Given the description of an element on the screen output the (x, y) to click on. 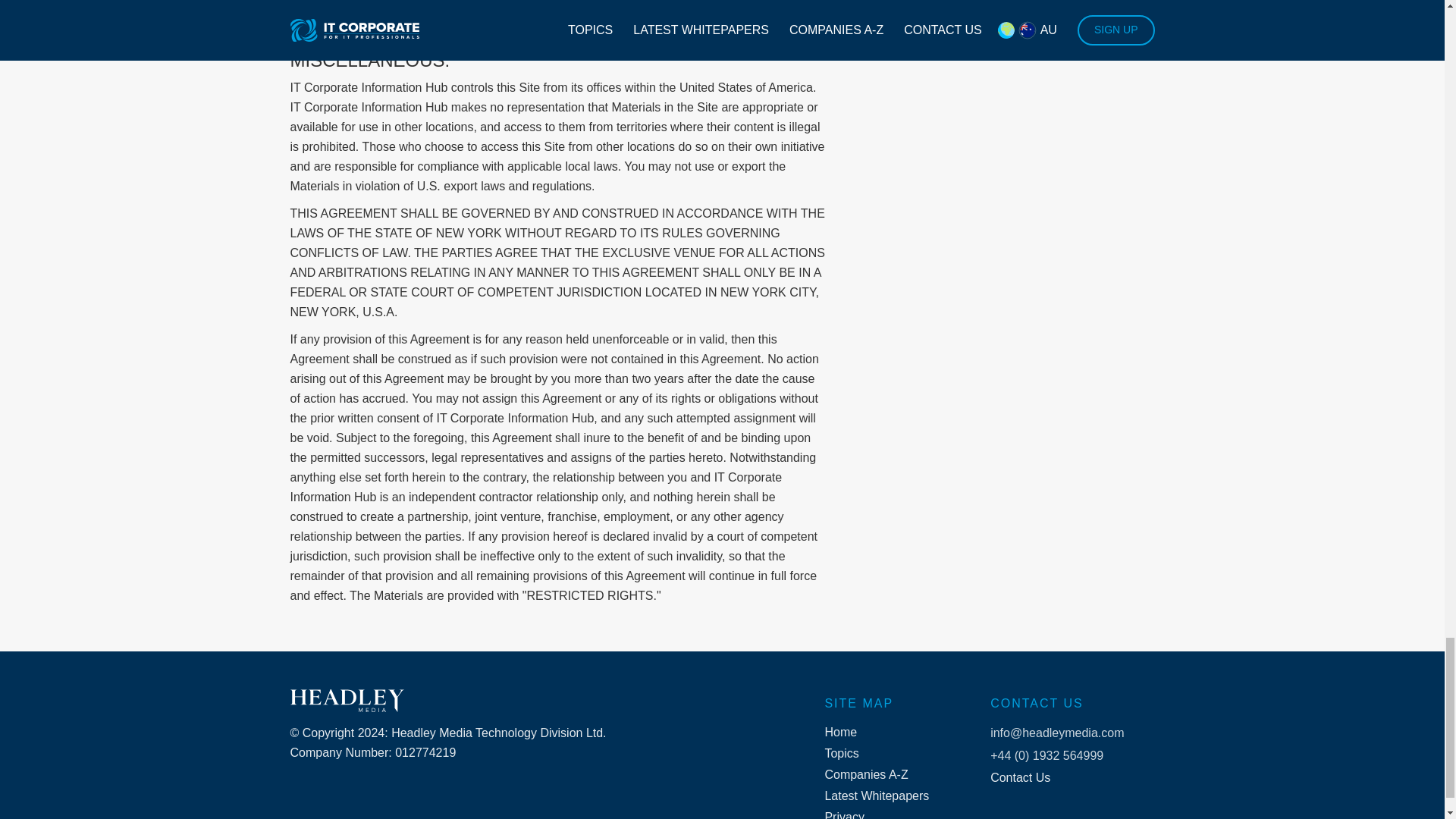
Companies A-Z (877, 775)
Home (877, 732)
Contact Us (1057, 777)
Topics (877, 753)
Latest Whitepapers (877, 796)
